Given the description of an element on the screen output the (x, y) to click on. 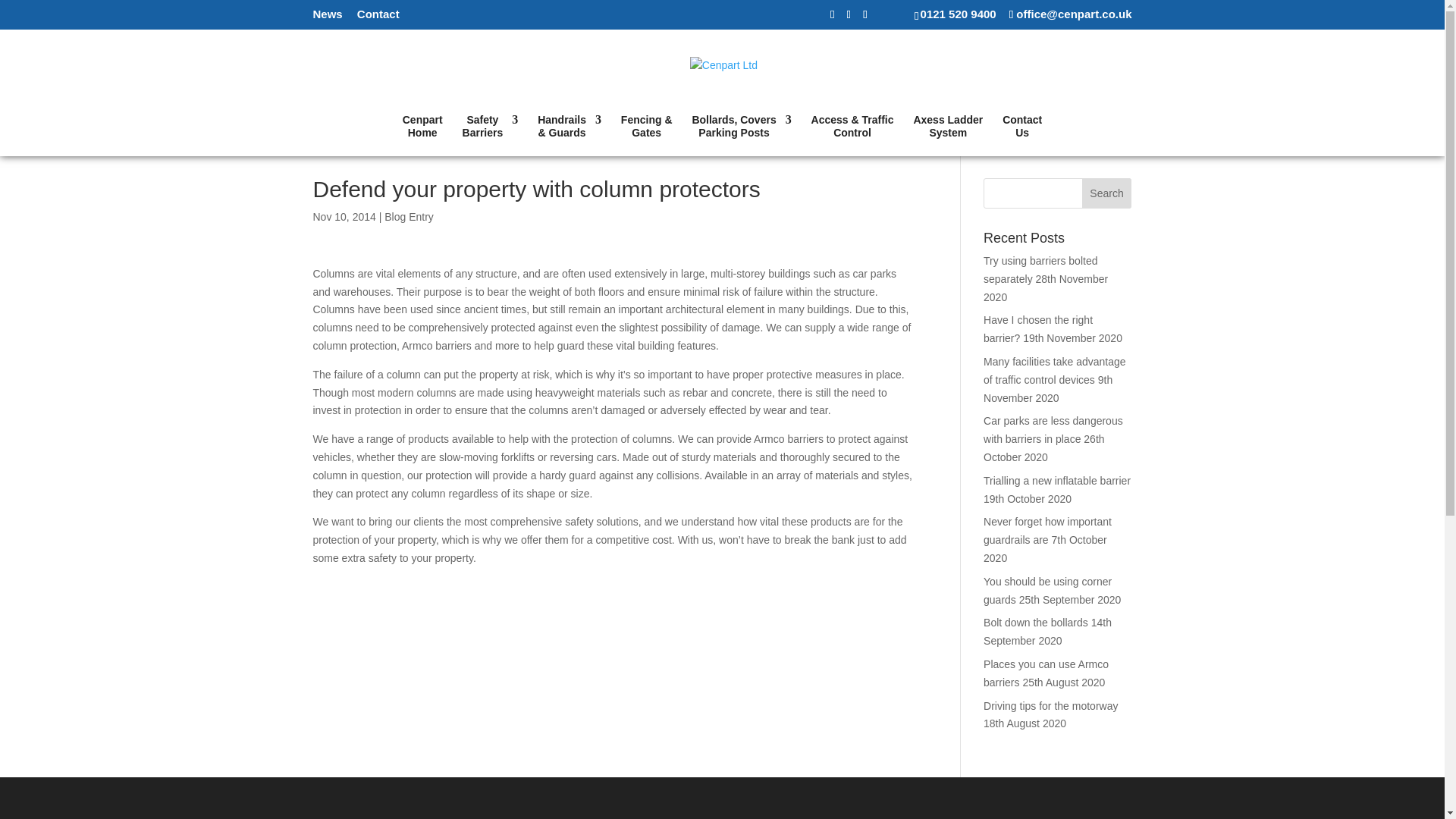
Contact (377, 17)
News (490, 134)
Search (422, 134)
